Given the description of an element on the screen output the (x, y) to click on. 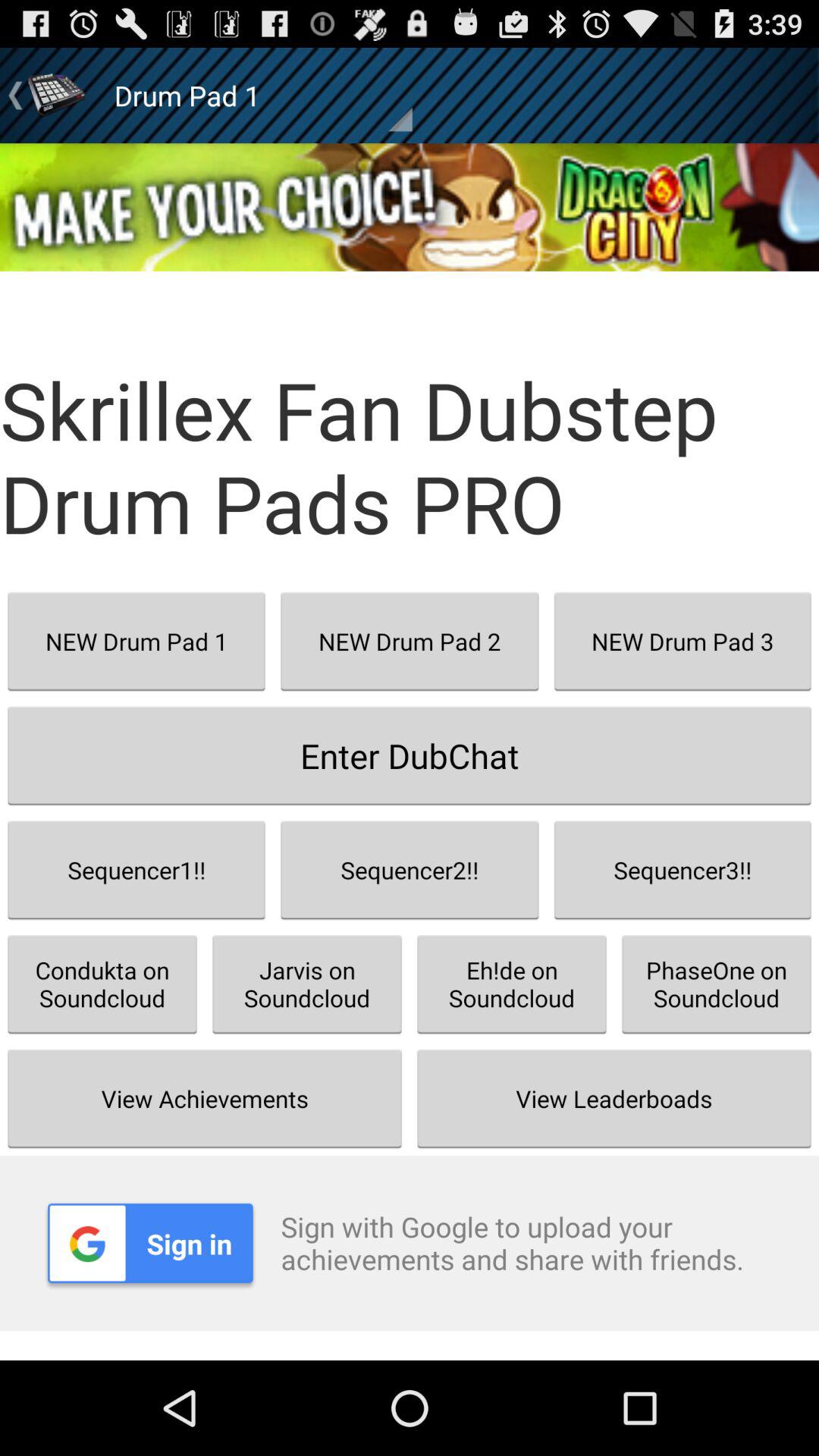
choose the item to the left of the eh de on (306, 984)
